Given the description of an element on the screen output the (x, y) to click on. 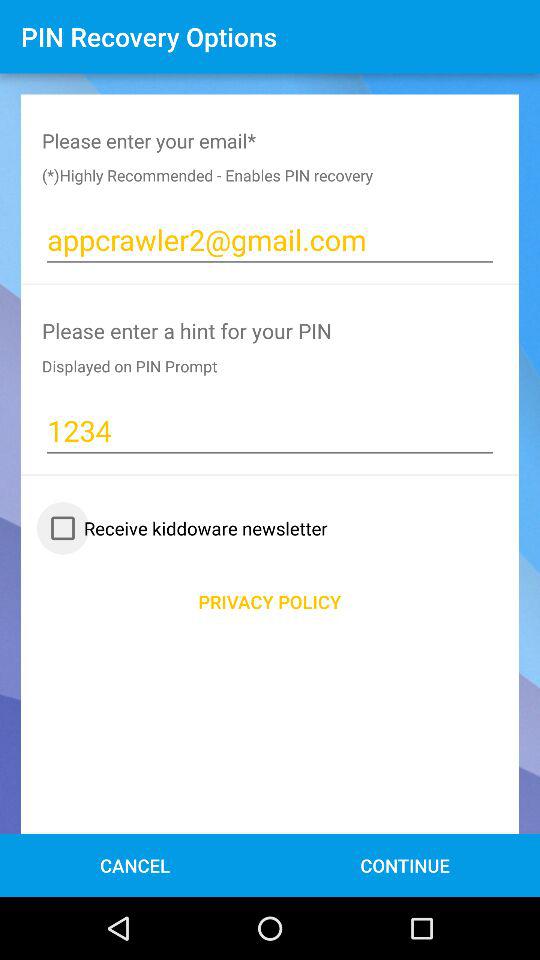
open the cancel (134, 864)
